Given the description of an element on the screen output the (x, y) to click on. 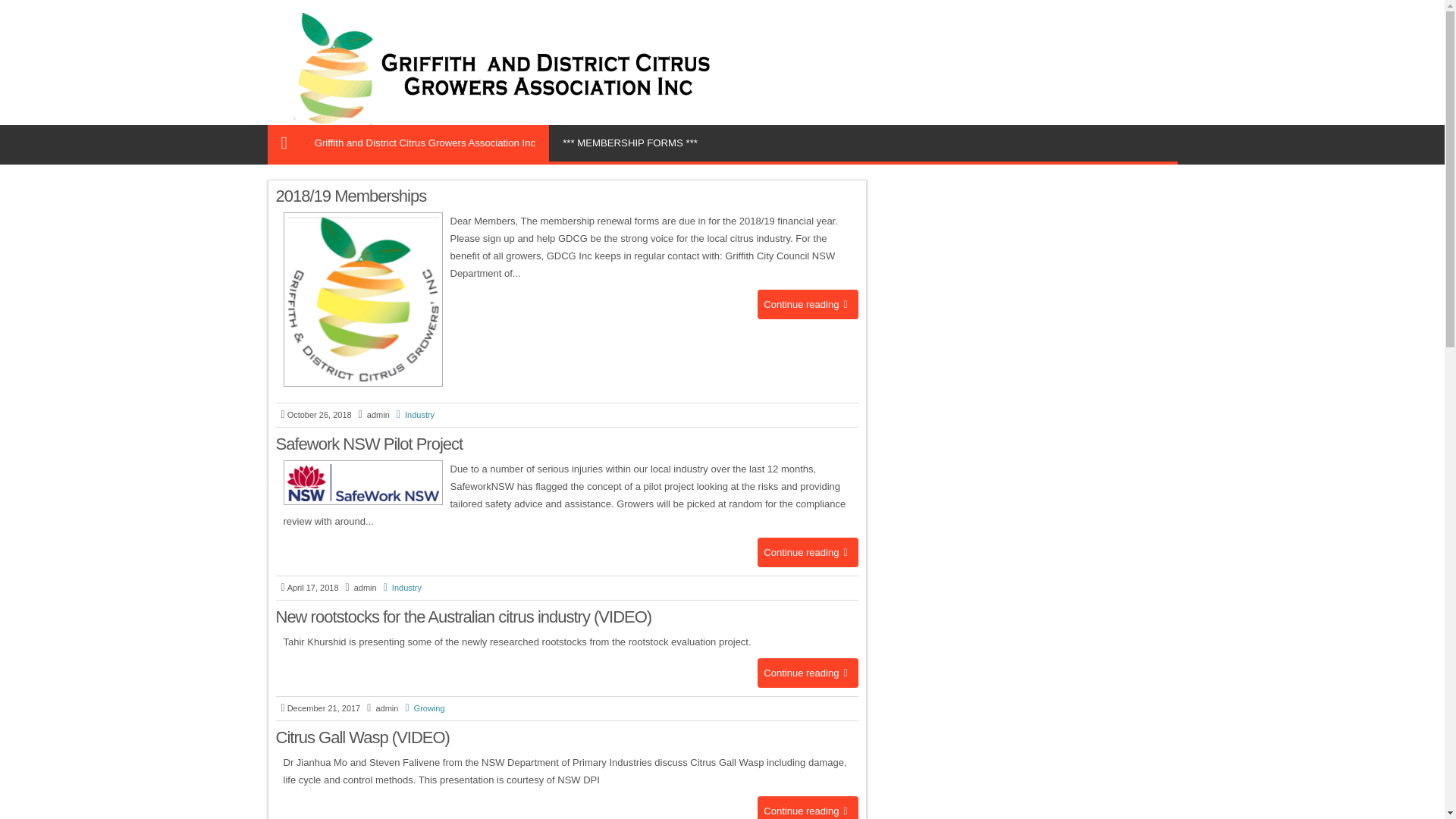
2018/19 Memberships Element type: text (351, 195)
Griffith and District Citrus Growers Association Inc Element type: text (425, 143)
Home Element type: hover (283, 143)
Safework NSW Pilot Project Element type: text (369, 443)
New rootstocks for the Australian citrus industry (VIDEO) Element type: text (464, 616)
Industry Element type: text (400, 587)
*** MEMBERSHIP FORMS *** Element type: text (630, 143)
Citrus Gall Wasp (VIDEO) Element type: text (362, 737)
Industry Element type: text (413, 414)
Growing Element type: text (422, 707)
